Given the description of an element on the screen output the (x, y) to click on. 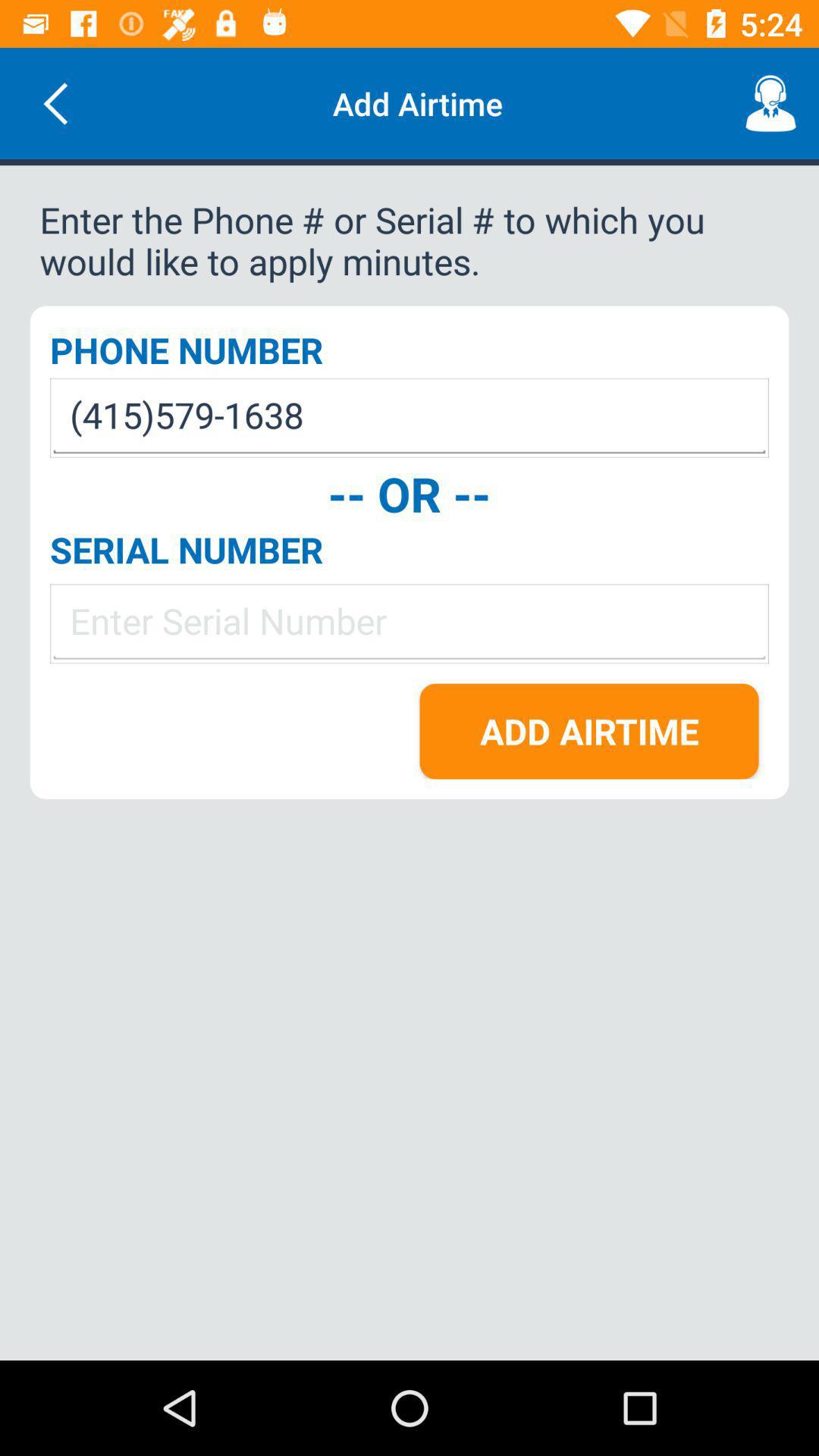
turn off the icon above -- or -- icon (409, 417)
